Given the description of an element on the screen output the (x, y) to click on. 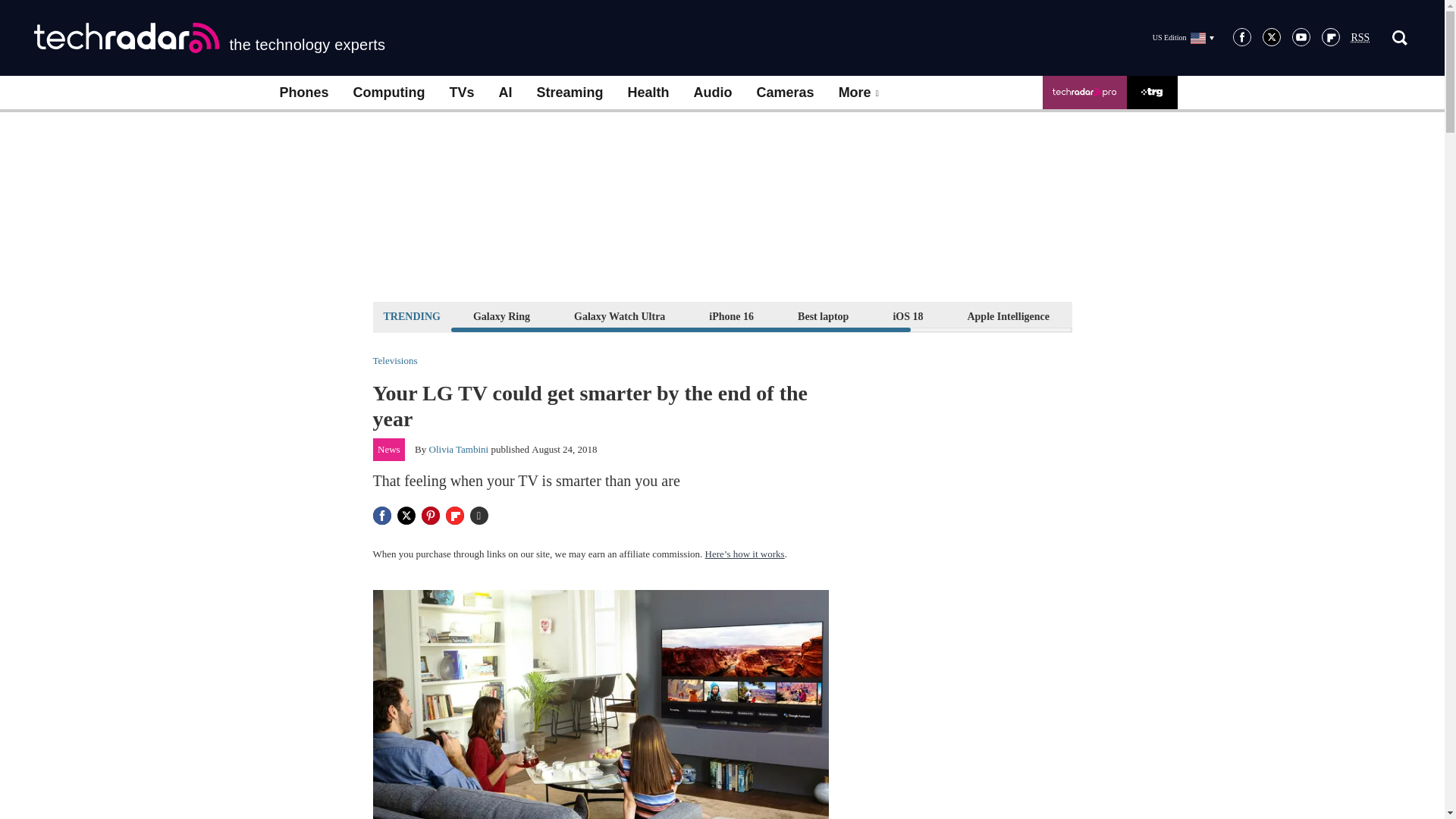
Audio (712, 92)
Really Simple Syndication (1360, 37)
Computing (389, 92)
the technology experts (209, 38)
AI (505, 92)
Phones (303, 92)
Cameras (785, 92)
TVs (461, 92)
Health (648, 92)
Streaming (569, 92)
